Given the description of an element on the screen output the (x, y) to click on. 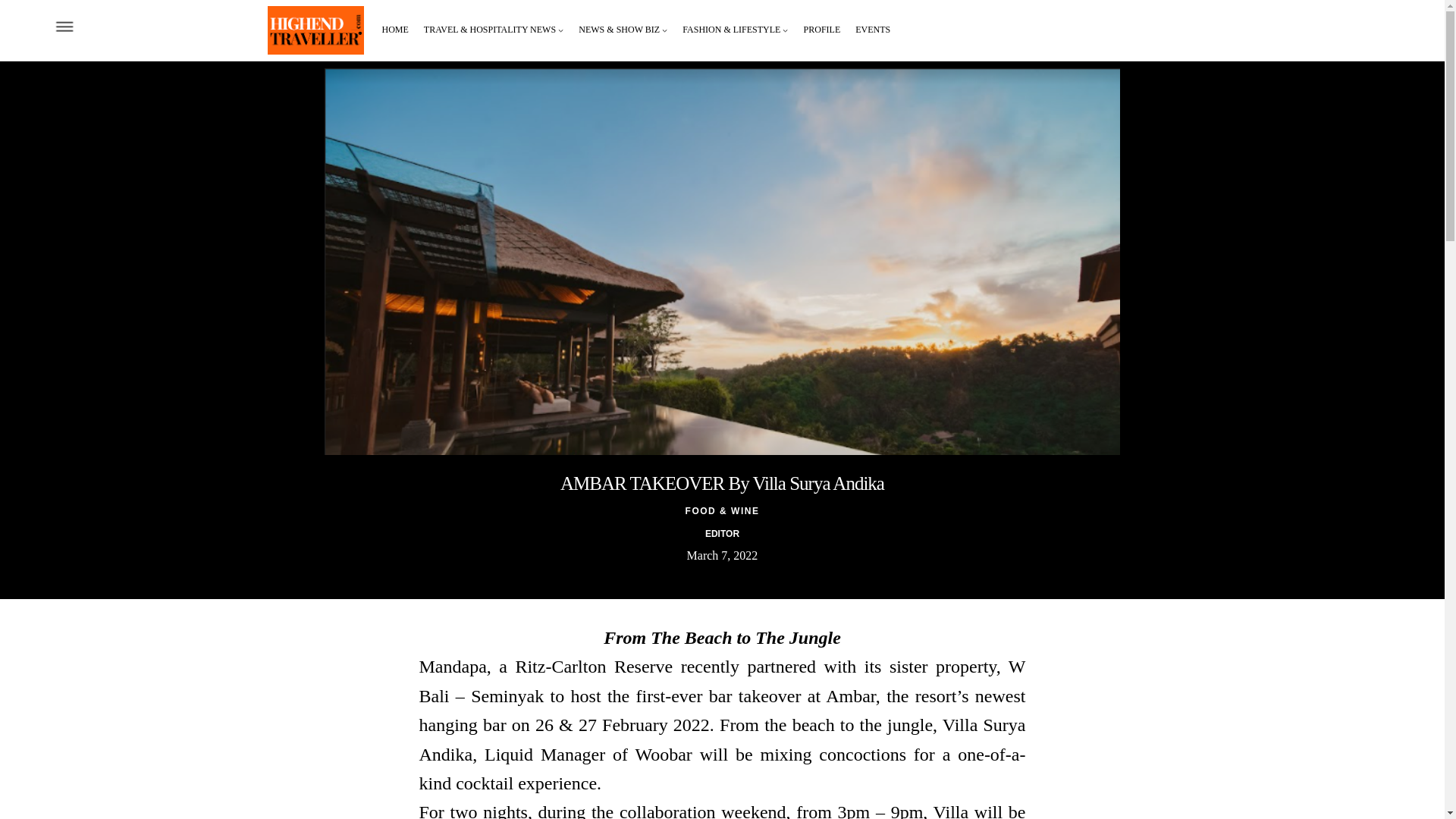
PROFILE (822, 29)
HOME (395, 29)
EVENTS (872, 29)
